Given the description of an element on the screen output the (x, y) to click on. 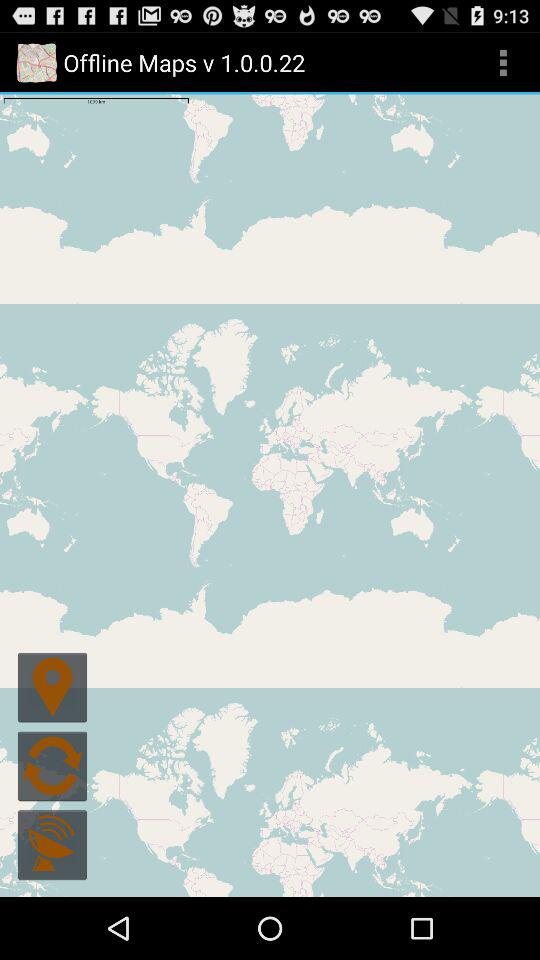
click icon at the top right corner (503, 62)
